Given the description of an element on the screen output the (x, y) to click on. 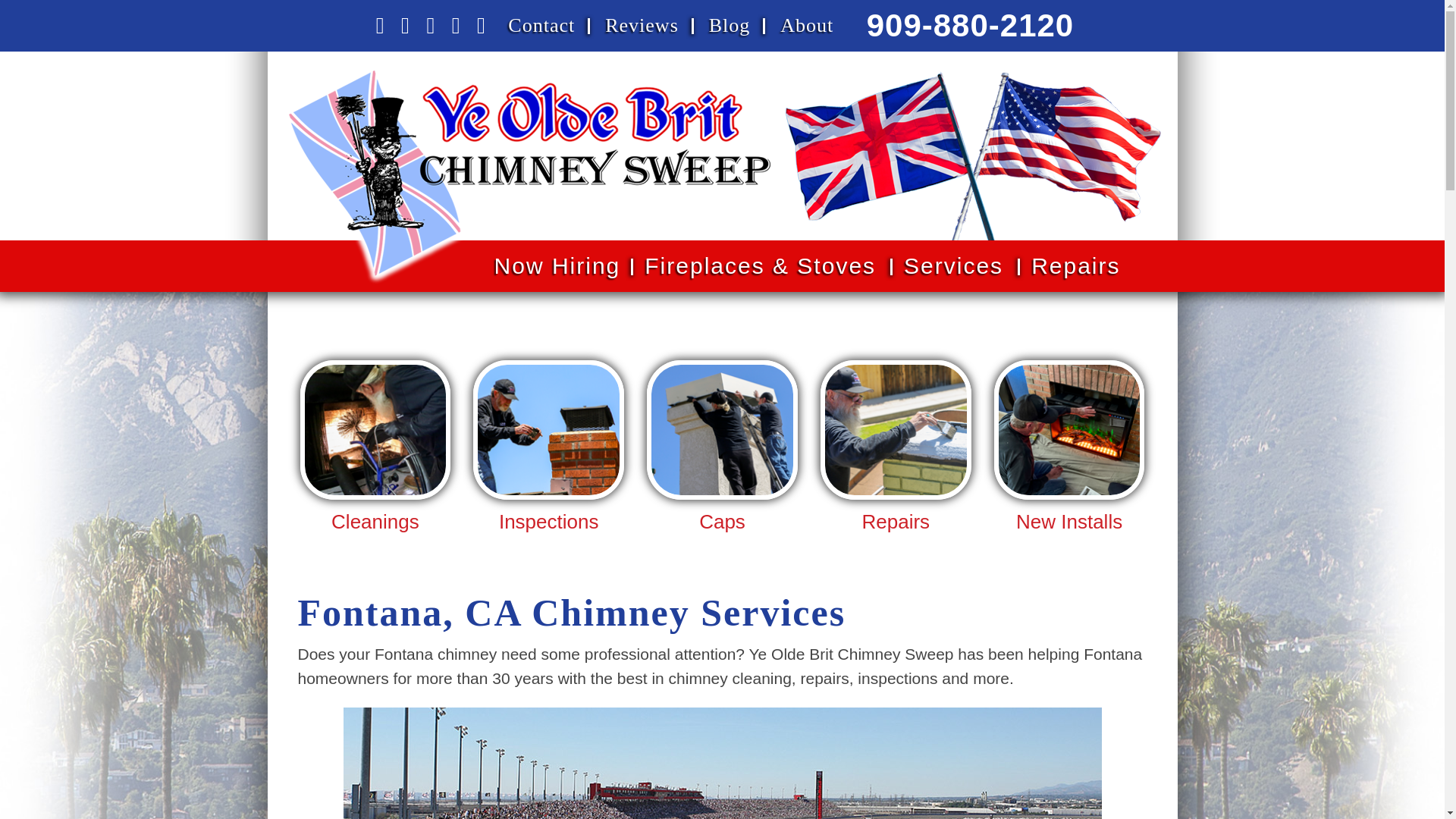
About (806, 25)
909-880-2120 (970, 25)
Reviews (641, 25)
.Ye Olde Brit Chimney Sweep (529, 75)
.Ye Olde Brit Chimney Sweep (529, 177)
Contact (541, 25)
Services (954, 265)
Now Hiring (557, 265)
Blog (729, 25)
